Given the description of an element on the screen output the (x, y) to click on. 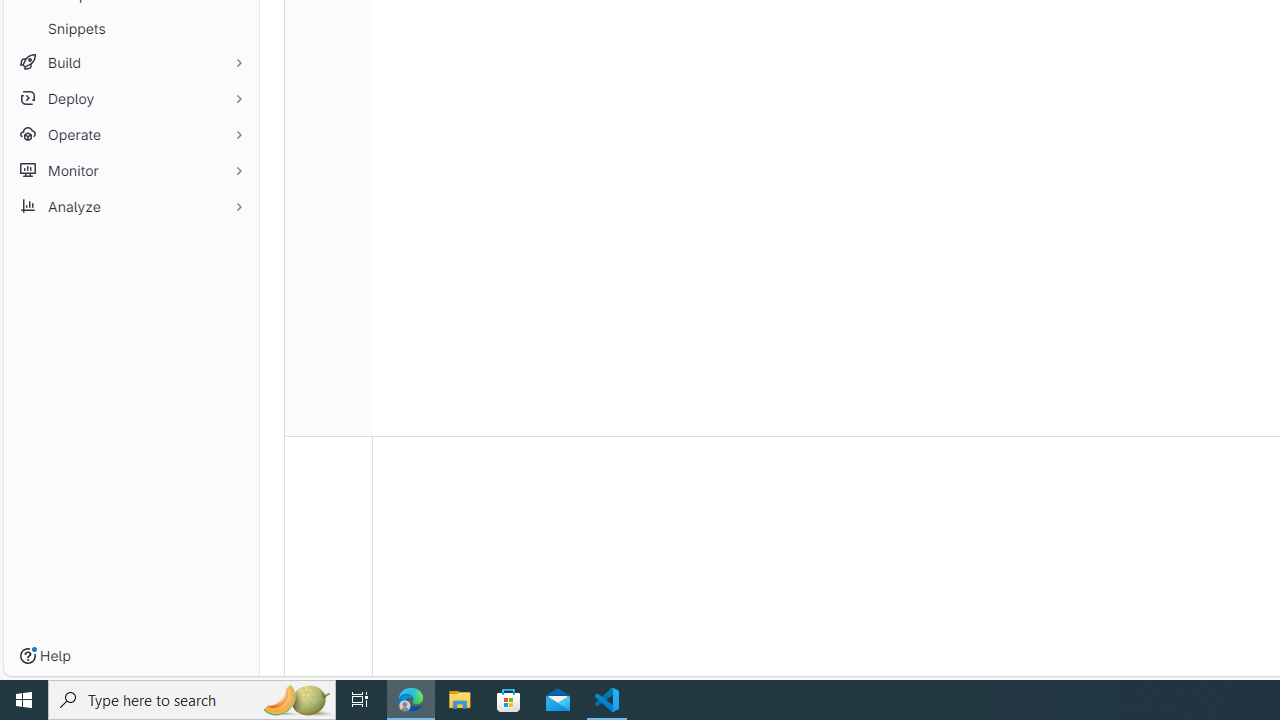
Snippets (130, 28)
Class: old_line diff-line-num empty-cell (328, 425)
Snippets (130, 28)
Help (45, 655)
Monitor (130, 170)
Operate (130, 134)
Deploy (130, 98)
Deploy (130, 98)
Pin Snippets (234, 28)
Build (130, 62)
Monitor (130, 170)
Build (130, 62)
Operate (130, 134)
Class: notes_line old (328, 576)
Analyze (130, 206)
